Given the description of an element on the screen output the (x, y) to click on. 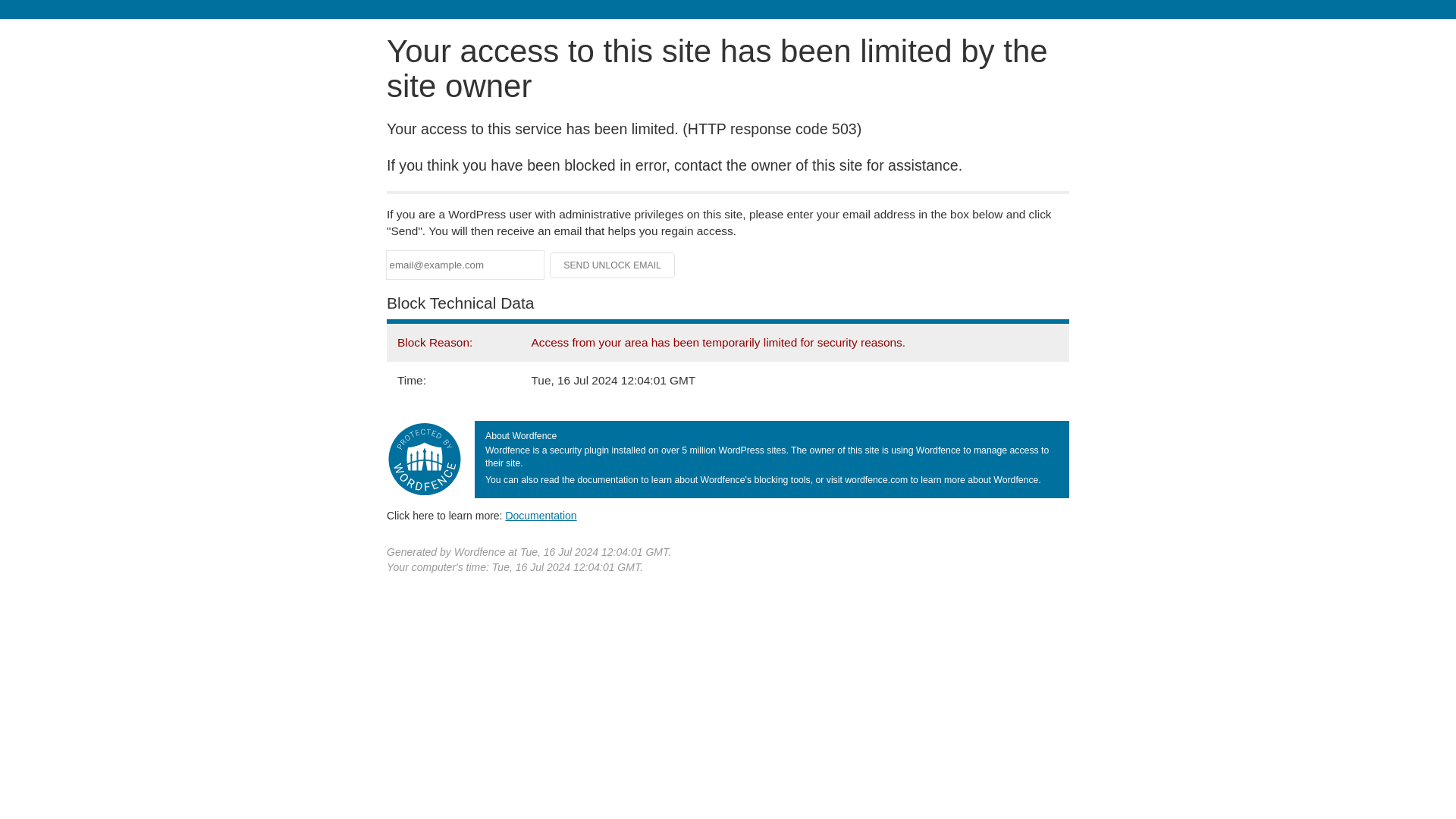
Documentation (540, 515)
Send Unlock Email (612, 265)
Send Unlock Email (612, 265)
